Given the description of an element on the screen output the (x, y) to click on. 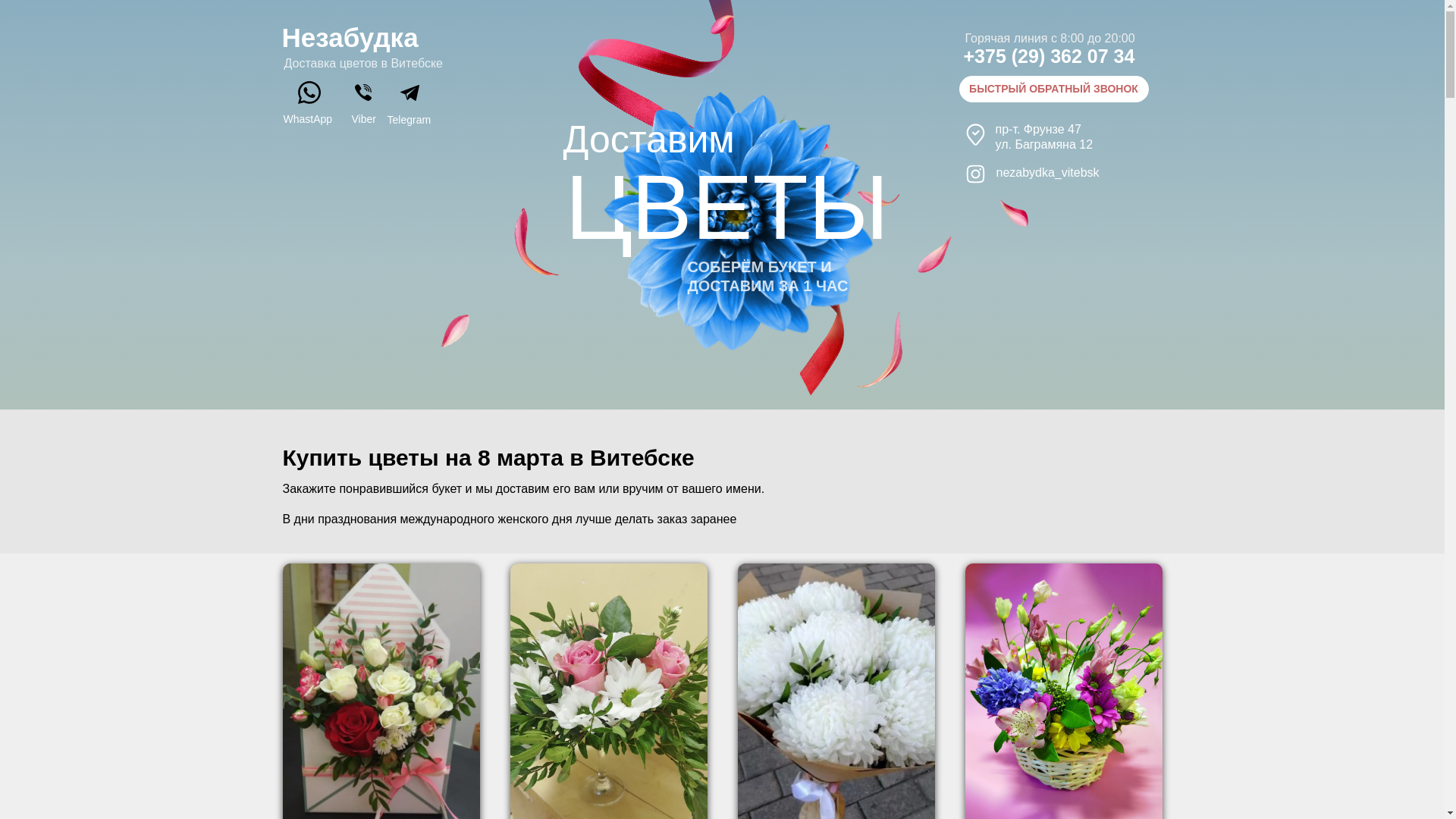
+375 (29) 362 07 34 Element type: text (1048, 55)
nezabydka_vitebsk Element type: text (1047, 172)
WhastApp Element type: text (307, 118)
Viber Element type: text (363, 118)
Telegram Element type: text (408, 119)
